Given the description of an element on the screen output the (x, y) to click on. 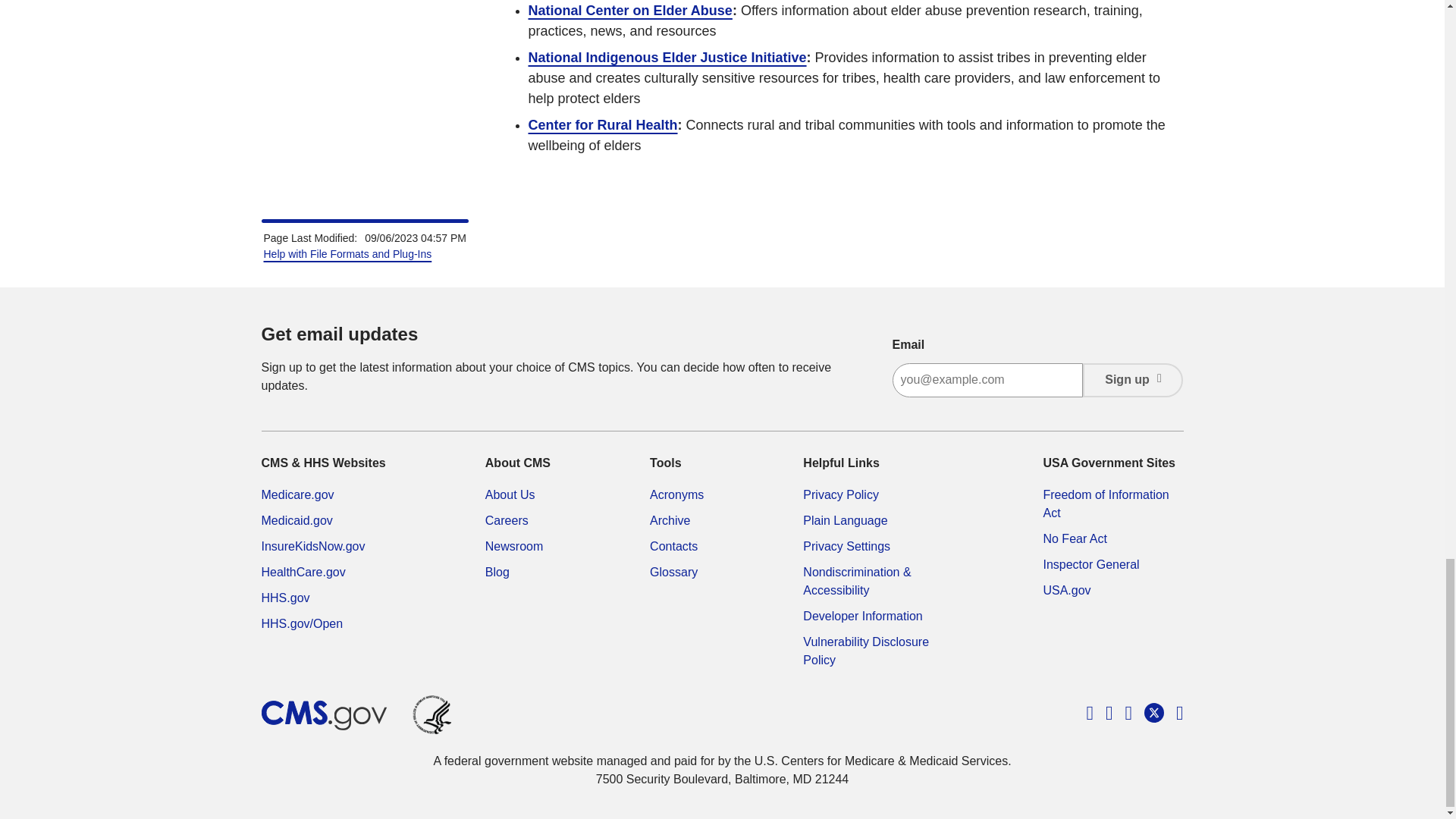
Medicare.gov (296, 494)
HealthCare.gov (302, 571)
About CMS (509, 494)
HHS.gov (284, 597)
Help with File Formats and Plug-Ins (347, 254)
Medicaid.gov (295, 520)
InsureKidsNow.gov (312, 545)
